Given the description of an element on the screen output the (x, y) to click on. 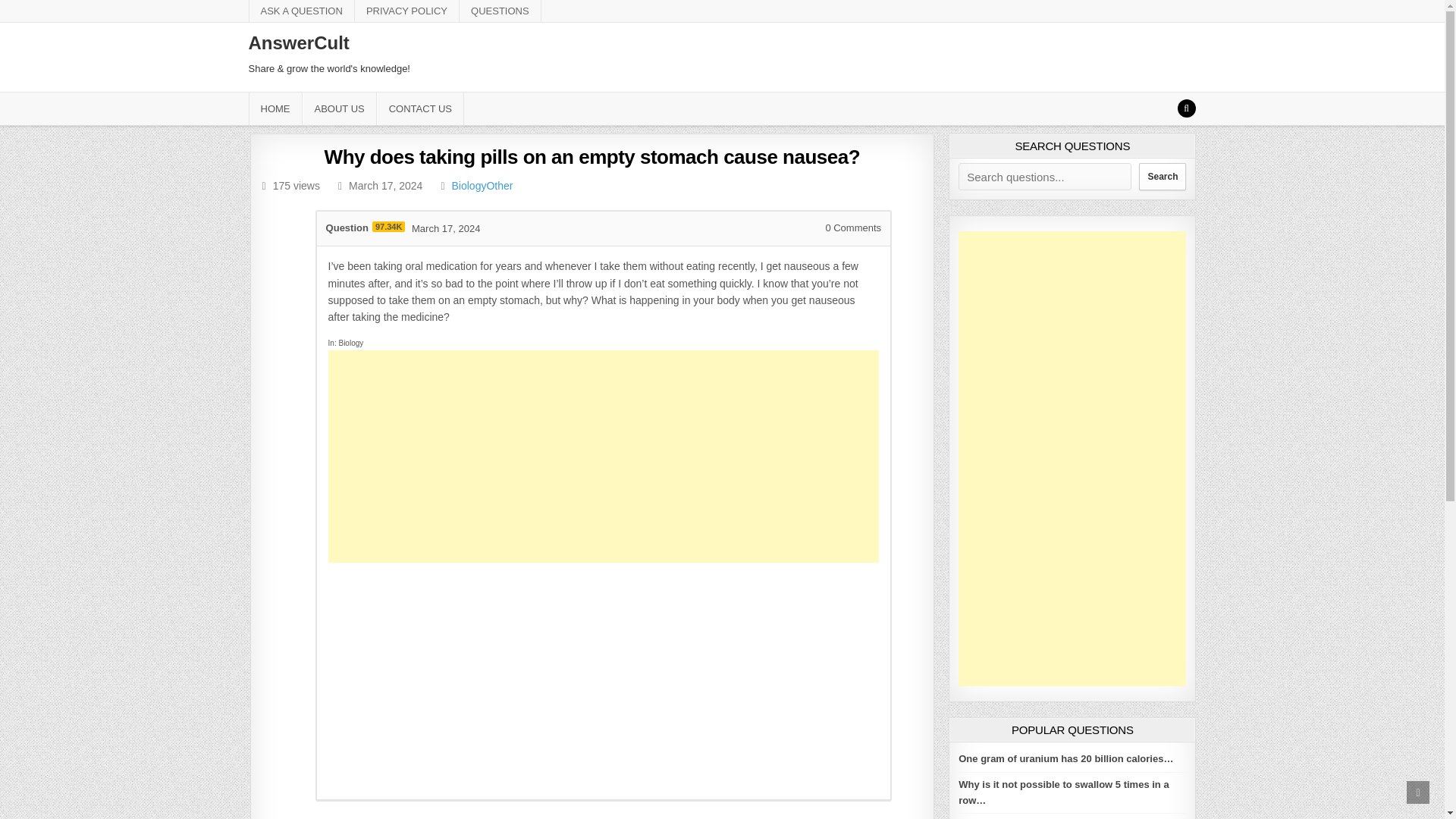
AnswerCult (298, 42)
ASK A QUESTION (301, 11)
March 17, 2024 (446, 227)
CONTACT US (420, 108)
HOME (275, 108)
ABOUT US (338, 108)
Biology (468, 185)
Scroll to Top (1417, 792)
PRIVACY POLICY (407, 11)
Advertisement (604, 676)
